Given the description of an element on the screen output the (x, y) to click on. 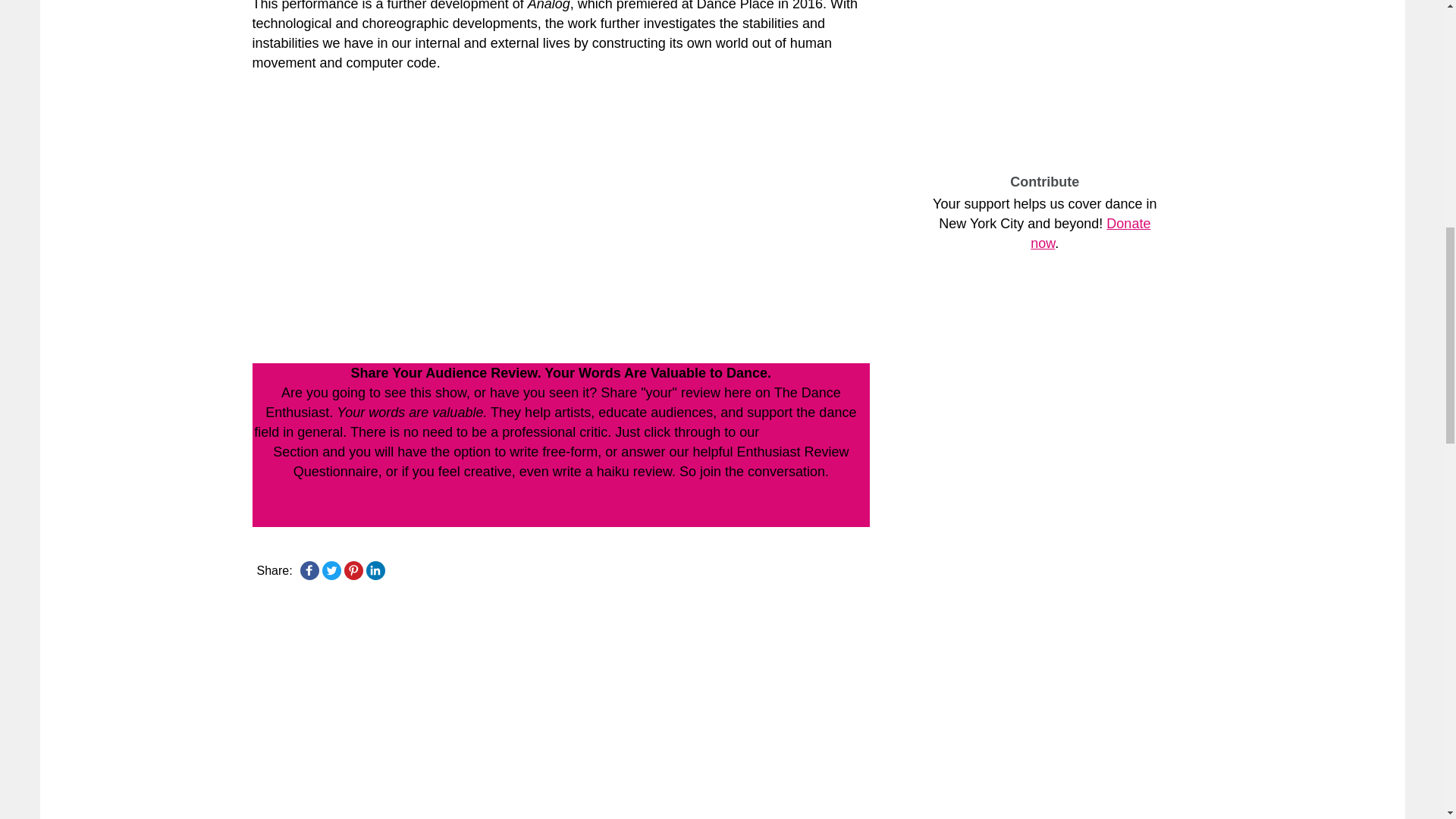
Twitter (331, 570)
LinkedIn (375, 570)
Facebook (309, 570)
Pinterest (353, 570)
